Given the description of an element on the screen output the (x, y) to click on. 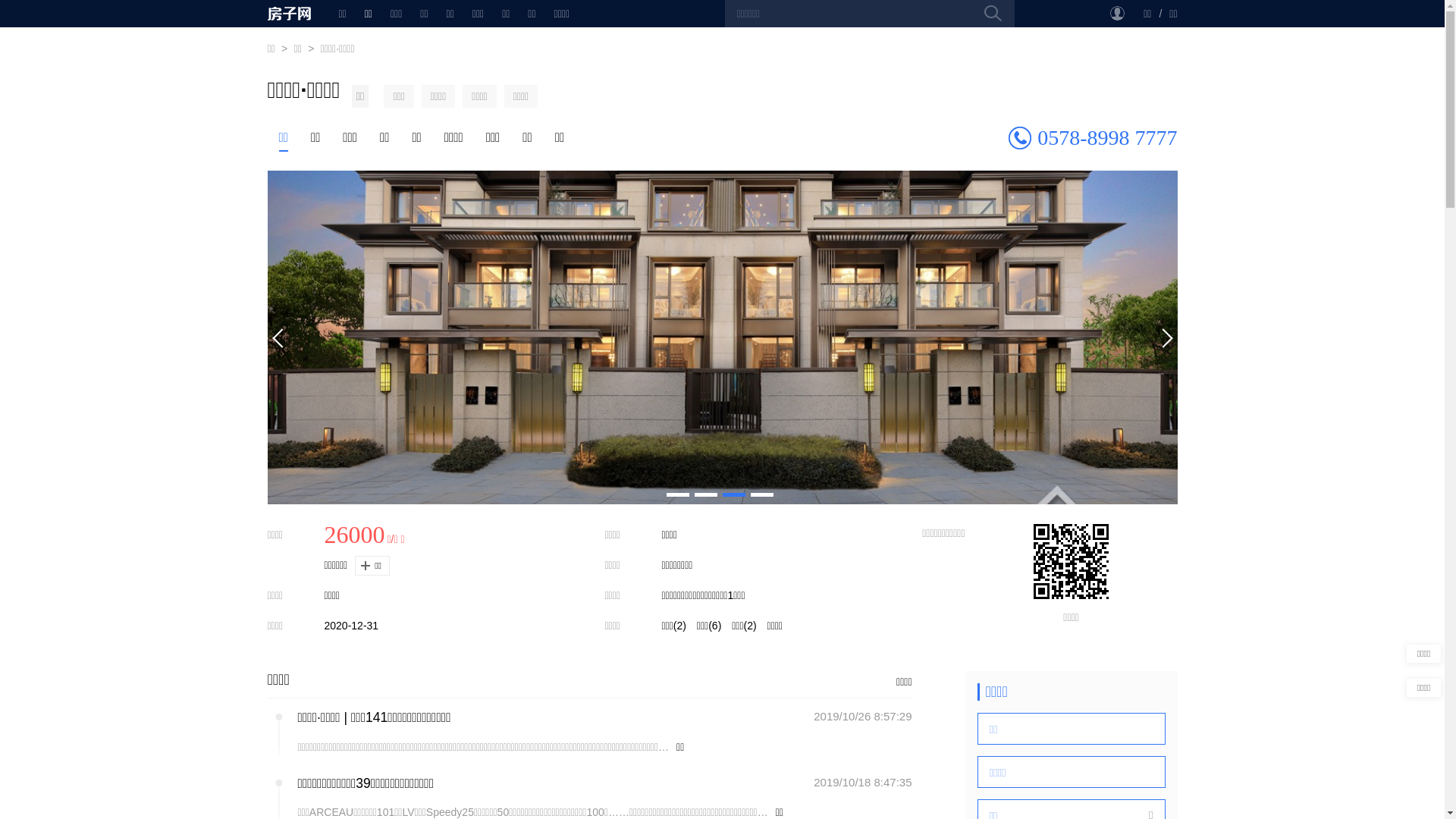
Prev Element type: text (277, 337)
1 Element type: text (676, 494)
Next Element type: text (1165, 337)
4 Element type: text (761, 494)
3 Element type: text (732, 494)
2 Element type: text (705, 494)
